Given the description of an element on the screen output the (x, y) to click on. 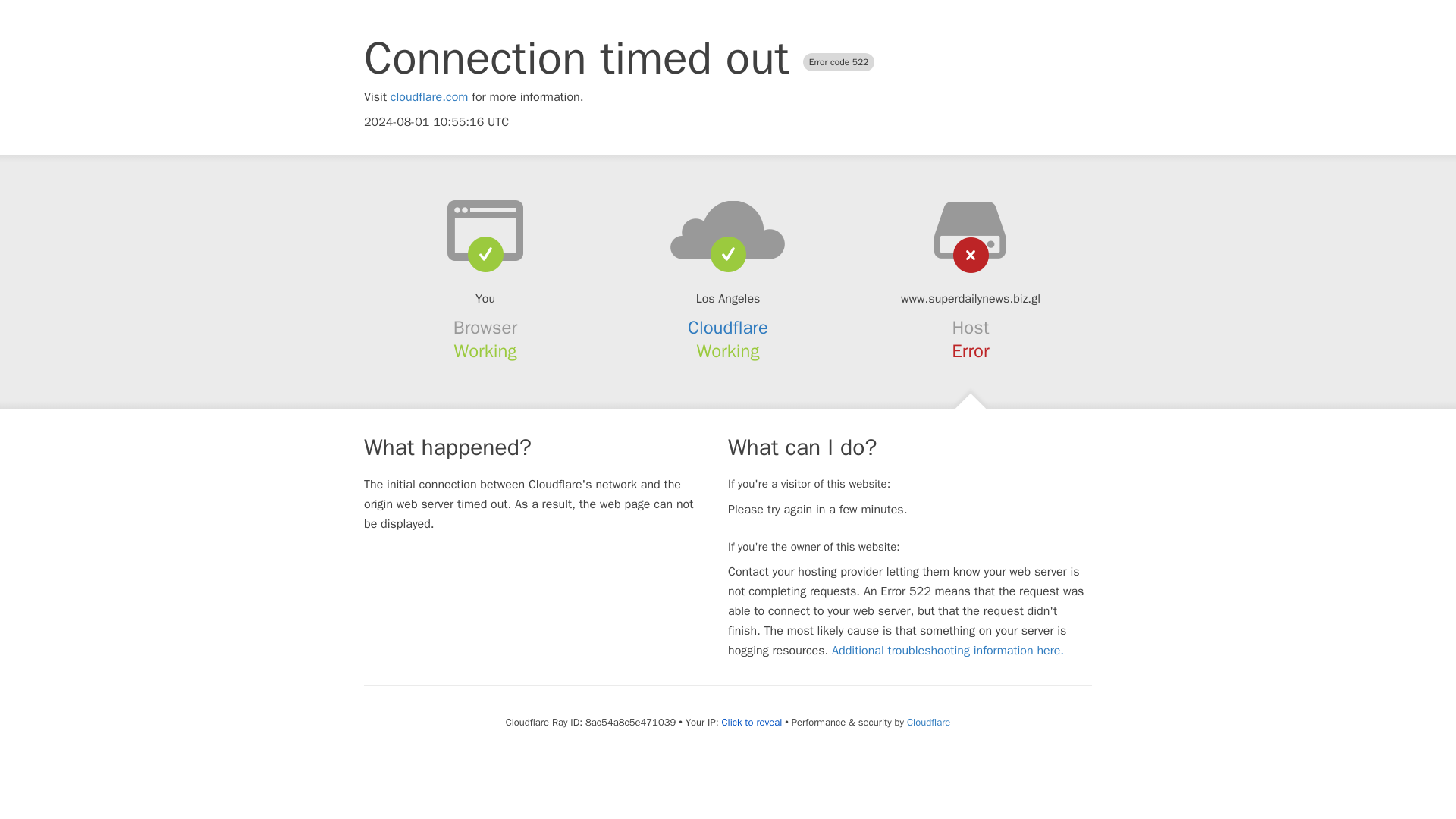
Cloudflare (928, 721)
cloudflare.com (429, 96)
Additional troubleshooting information here. (947, 650)
Click to reveal (750, 722)
Cloudflare (727, 327)
